Given the description of an element on the screen output the (x, y) to click on. 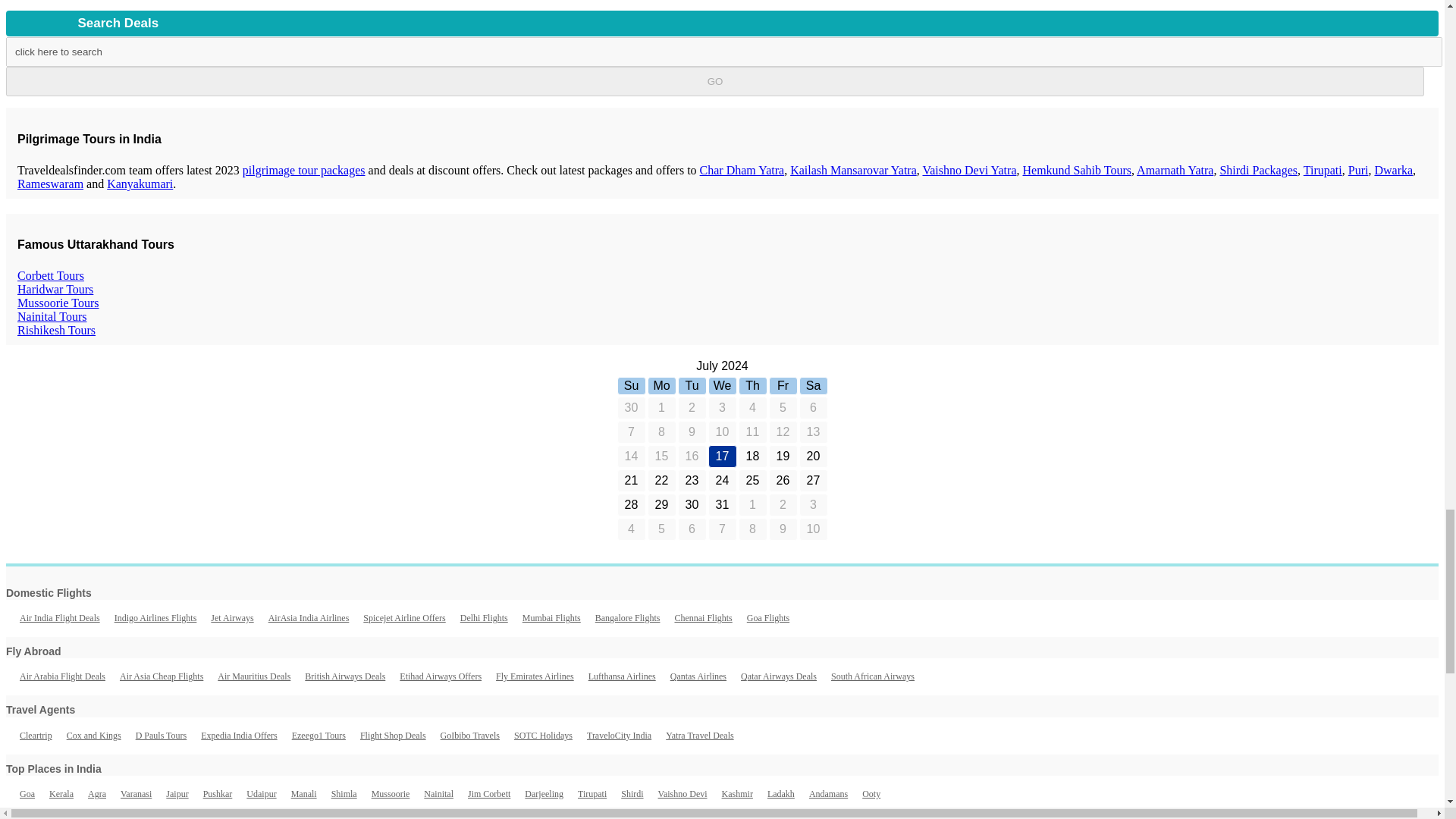
GO (714, 81)
Shimla Travel packages (343, 793)
Agra Travel packages (96, 793)
Varanasi Travel packages (135, 793)
Pushkar Travel packages (217, 793)
Jim Corbett Packages (489, 793)
Udaipur Travel packages (261, 793)
Darjeeling Travel packages (543, 793)
Shirdi Travel packages (632, 793)
Goa Travel packages (27, 793)
Tirupati Travel packages (592, 793)
Nainital Travel packages (437, 793)
Mussoorie Travel packages (390, 793)
Kerala Travel packages (61, 793)
Manali Travel packages (304, 793)
